Given the description of an element on the screen output the (x, y) to click on. 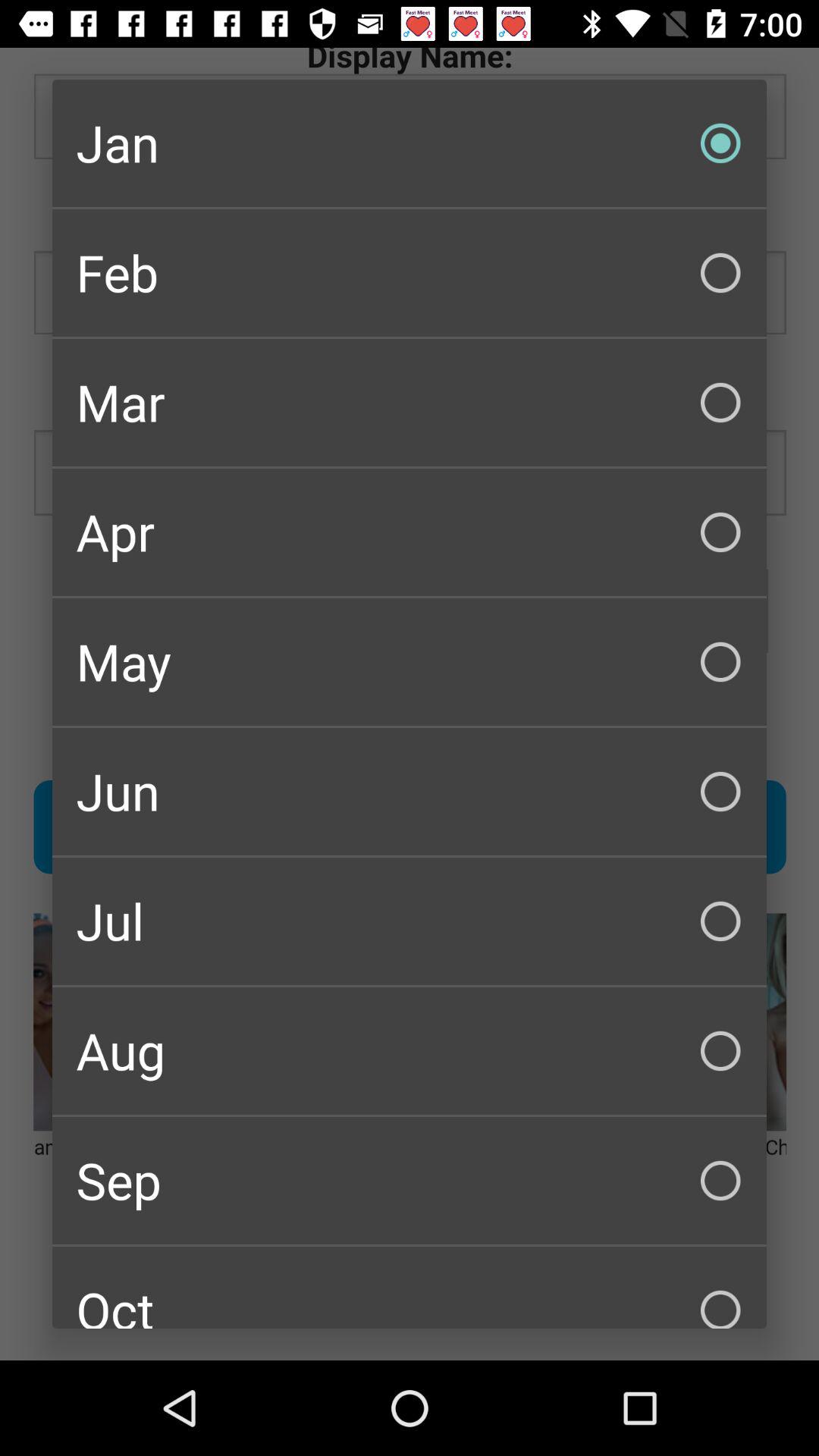
launch sep icon (409, 1180)
